Given the description of an element on the screen output the (x, y) to click on. 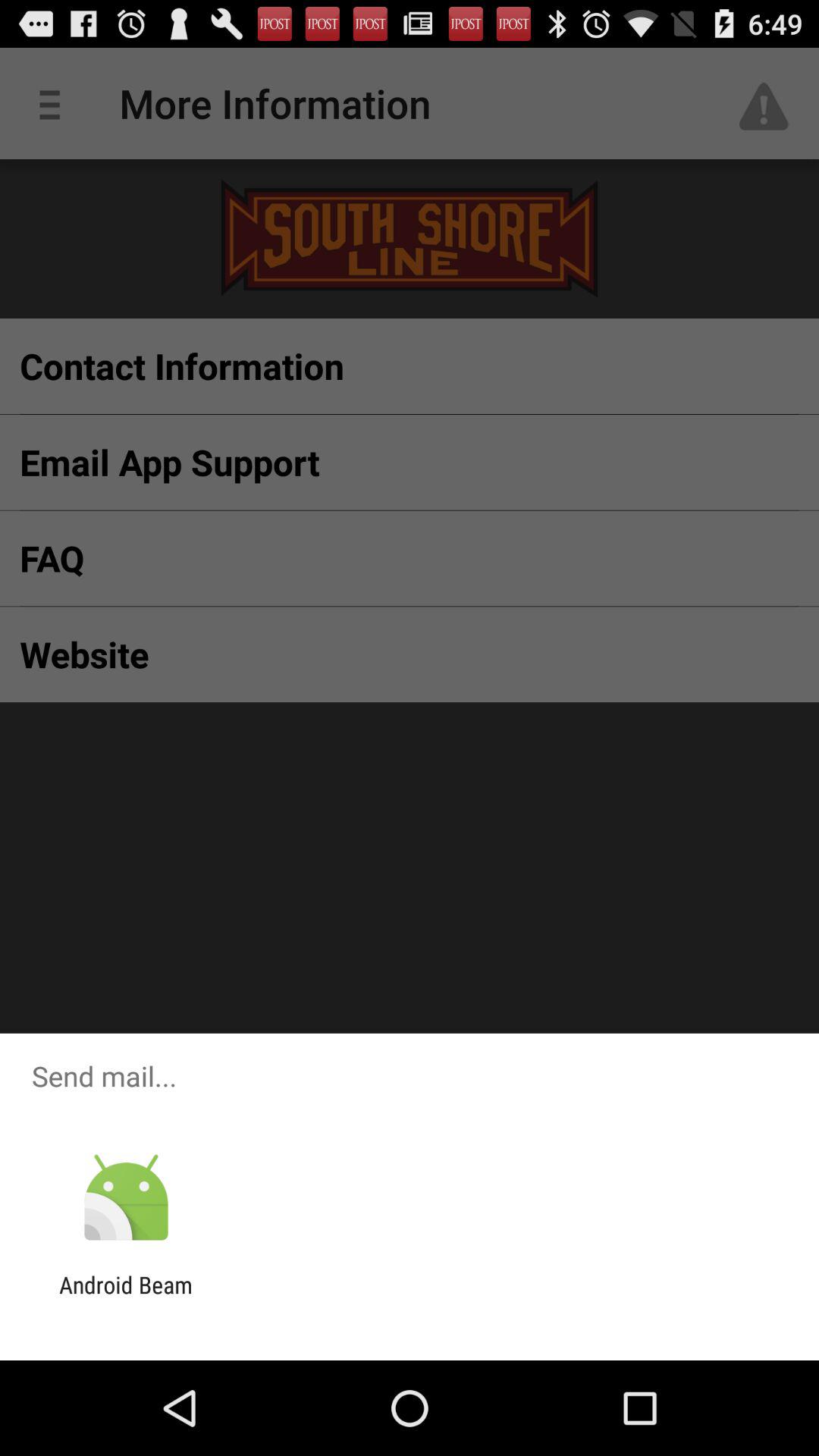
tap item below send mail... icon (126, 1198)
